Given the description of an element on the screen output the (x, y) to click on. 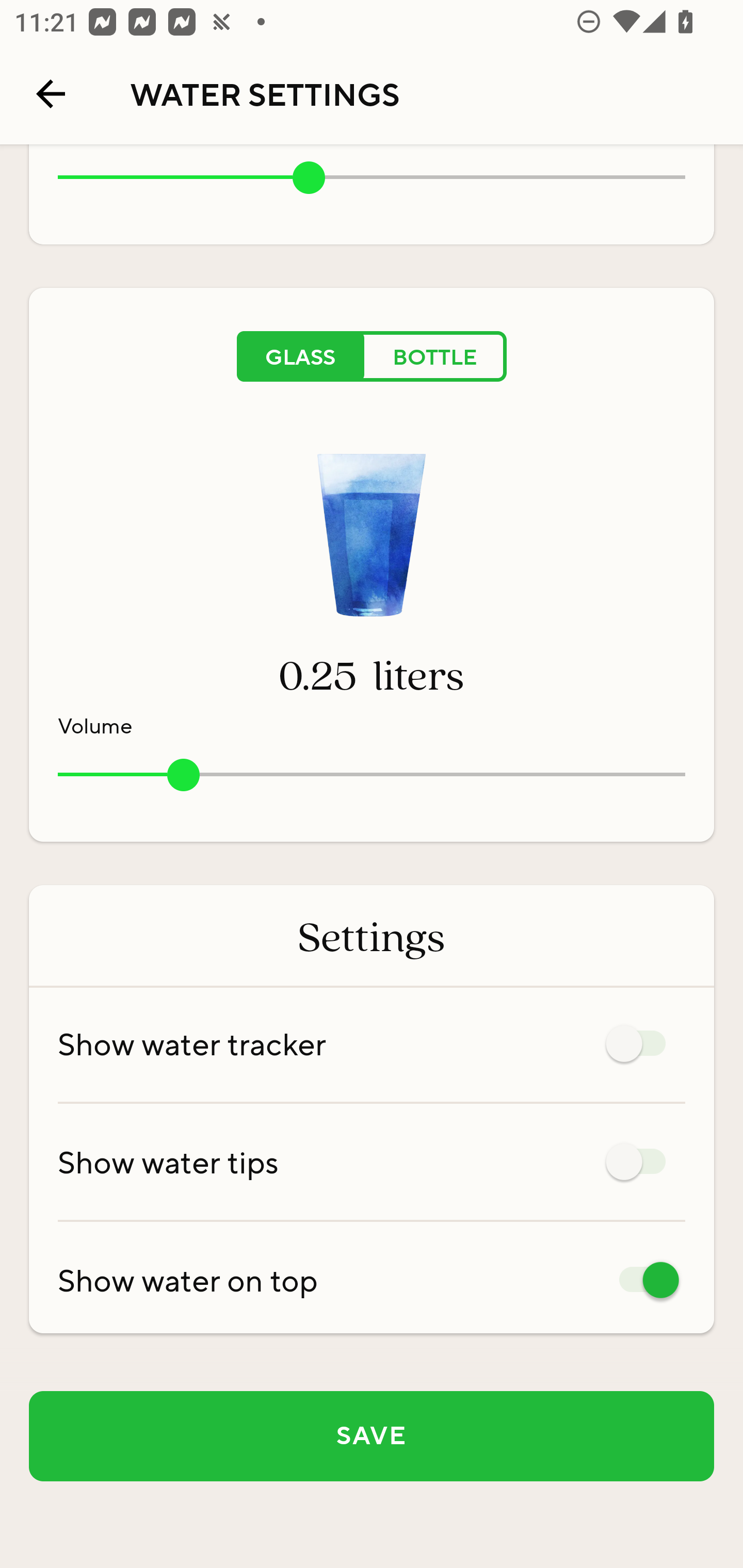
Navigate up (50, 93)
GLASS (300, 355)
BOTTLE (435, 355)
SAVE (371, 1435)
